Given the description of an element on the screen output the (x, y) to click on. 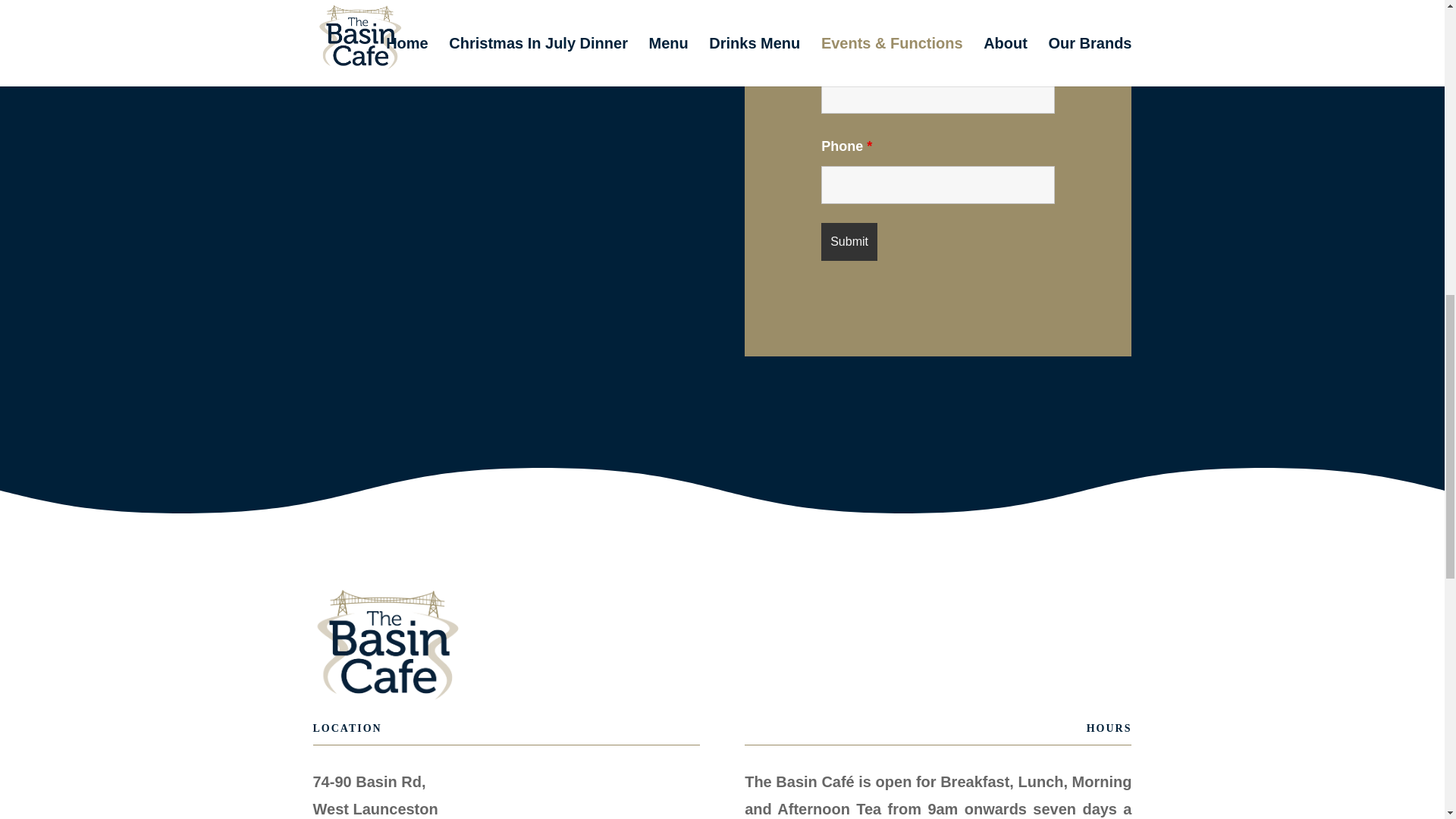
Submit (849, 241)
Submit (849, 241)
